Given the description of an element on the screen output the (x, y) to click on. 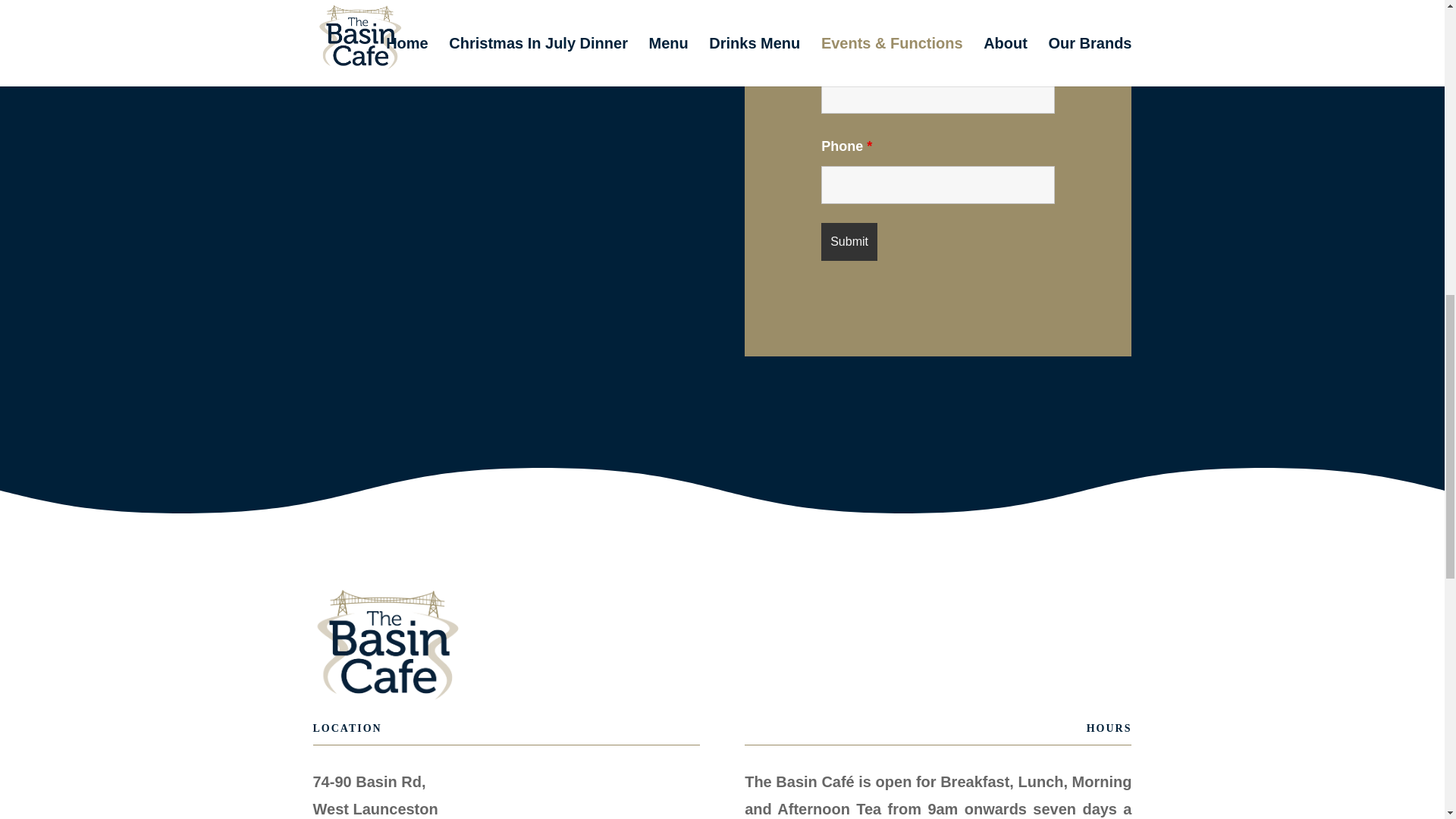
Submit (849, 241)
Submit (849, 241)
